Given the description of an element on the screen output the (x, y) to click on. 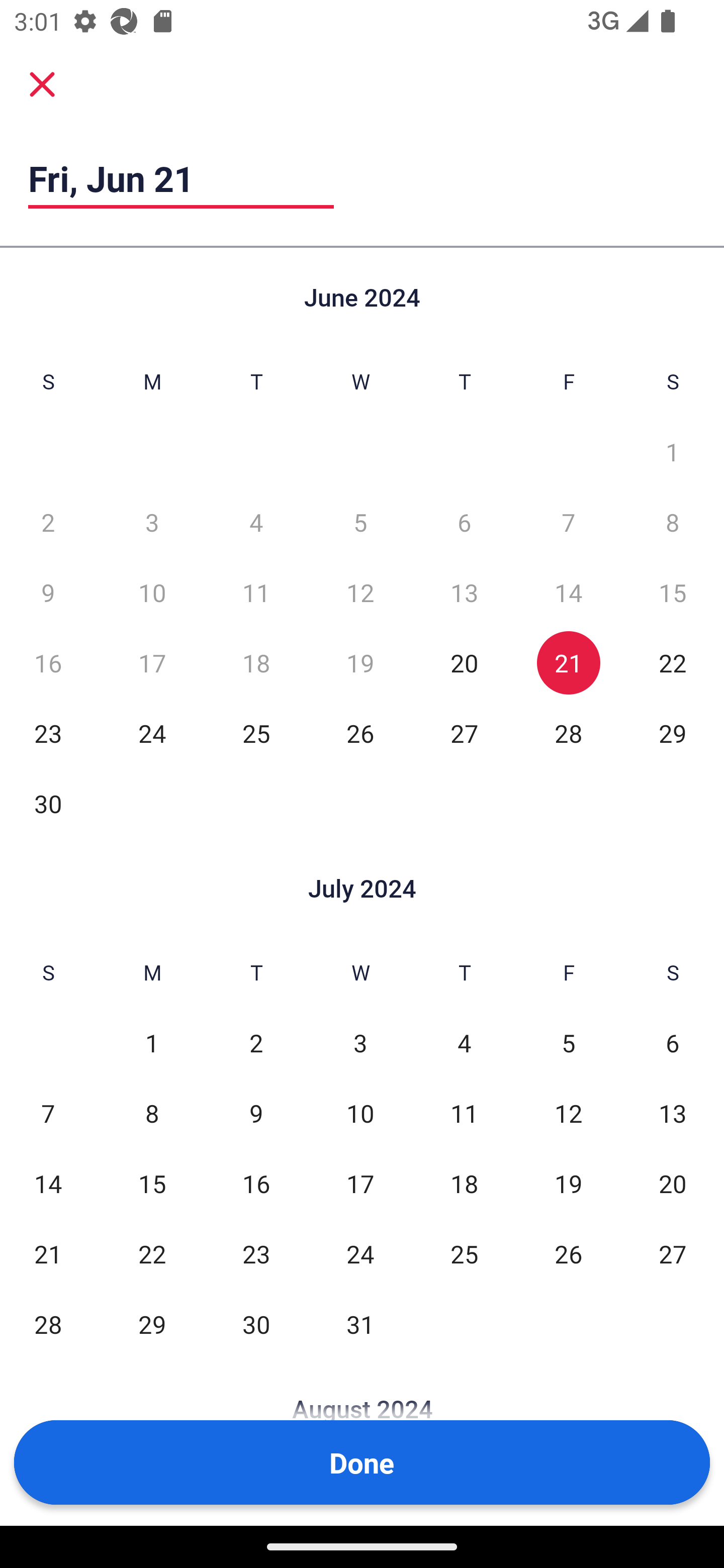
Cancel (41, 83)
Fri, Jun 21 (180, 178)
1 Sat, Jun 1, Not Selected (672, 452)
2 Sun, Jun 2, Not Selected (48, 521)
3 Mon, Jun 3, Not Selected (152, 521)
4 Tue, Jun 4, Not Selected (256, 521)
5 Wed, Jun 5, Not Selected (360, 521)
6 Thu, Jun 6, Not Selected (464, 521)
7 Fri, Jun 7, Not Selected (568, 521)
8 Sat, Jun 8, Not Selected (672, 521)
9 Sun, Jun 9, Not Selected (48, 591)
10 Mon, Jun 10, Not Selected (152, 591)
11 Tue, Jun 11, Not Selected (256, 591)
12 Wed, Jun 12, Not Selected (360, 591)
13 Thu, Jun 13, Not Selected (464, 591)
14 Fri, Jun 14, Not Selected (568, 591)
15 Sat, Jun 15, Not Selected (672, 591)
16 Sun, Jun 16, Not Selected (48, 662)
17 Mon, Jun 17, Not Selected (152, 662)
18 Tue, Jun 18, Not Selected (256, 662)
19 Wed, Jun 19, Not Selected (360, 662)
20 Thu, Jun 20, Not Selected (464, 662)
21 Fri, Jun 21, Selected (568, 662)
22 Sat, Jun 22, Not Selected (672, 662)
23 Sun, Jun 23, Not Selected (48, 732)
24 Mon, Jun 24, Not Selected (152, 732)
25 Tue, Jun 25, Not Selected (256, 732)
26 Wed, Jun 26, Not Selected (360, 732)
27 Thu, Jun 27, Not Selected (464, 732)
28 Fri, Jun 28, Not Selected (568, 732)
29 Sat, Jun 29, Not Selected (672, 732)
30 Sun, Jun 30, Not Selected (48, 803)
1 Mon, Jul 1, Not Selected (152, 1043)
2 Tue, Jul 2, Not Selected (256, 1043)
3 Wed, Jul 3, Not Selected (360, 1043)
4 Thu, Jul 4, Not Selected (464, 1043)
5 Fri, Jul 5, Not Selected (568, 1043)
6 Sat, Jul 6, Not Selected (672, 1043)
7 Sun, Jul 7, Not Selected (48, 1112)
8 Mon, Jul 8, Not Selected (152, 1112)
9 Tue, Jul 9, Not Selected (256, 1112)
10 Wed, Jul 10, Not Selected (360, 1112)
11 Thu, Jul 11, Not Selected (464, 1112)
12 Fri, Jul 12, Not Selected (568, 1112)
13 Sat, Jul 13, Not Selected (672, 1112)
14 Sun, Jul 14, Not Selected (48, 1182)
15 Mon, Jul 15, Not Selected (152, 1182)
16 Tue, Jul 16, Not Selected (256, 1182)
17 Wed, Jul 17, Not Selected (360, 1182)
18 Thu, Jul 18, Not Selected (464, 1182)
19 Fri, Jul 19, Not Selected (568, 1182)
20 Sat, Jul 20, Not Selected (672, 1182)
21 Sun, Jul 21, Not Selected (48, 1253)
22 Mon, Jul 22, Not Selected (152, 1253)
23 Tue, Jul 23, Not Selected (256, 1253)
24 Wed, Jul 24, Not Selected (360, 1253)
25 Thu, Jul 25, Not Selected (464, 1253)
26 Fri, Jul 26, Not Selected (568, 1253)
27 Sat, Jul 27, Not Selected (672, 1253)
28 Sun, Jul 28, Not Selected (48, 1323)
29 Mon, Jul 29, Not Selected (152, 1323)
30 Tue, Jul 30, Not Selected (256, 1323)
31 Wed, Jul 31, Not Selected (360, 1323)
Done Button Done (361, 1462)
